Given the description of an element on the screen output the (x, y) to click on. 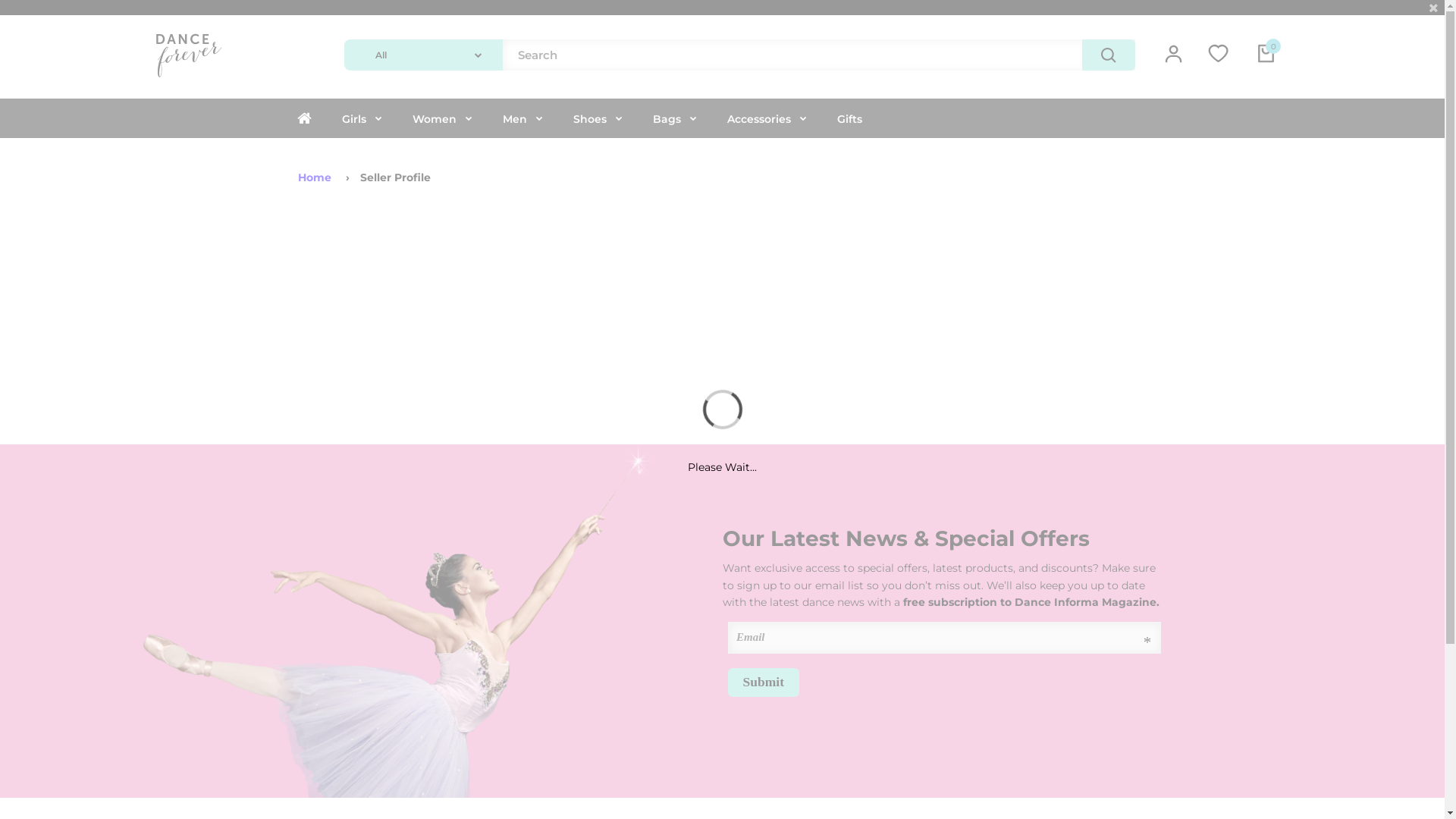
Shoes Element type: text (597, 118)
Shoes Element type: text (589, 118)
Men Element type: text (521, 118)
Girls Element type: text (360, 118)
Submit Element type: text (763, 682)
Girls Element type: text (353, 118)
Accessories Element type: text (758, 118)
Home Element type: text (315, 177)
Bags Element type: text (666, 118)
Accessories Element type: text (765, 118)
Bags Element type: text (673, 118)
Dance Forever Element type: hover (187, 54)
Women Element type: text (434, 118)
Women Element type: text (442, 118)
Gifts Element type: text (849, 118)
Men Element type: text (514, 118)
Gifts Element type: text (849, 118)
0 Element type: text (1267, 54)
Dance Forever Element type: hover (187, 78)
